Given the description of an element on the screen output the (x, y) to click on. 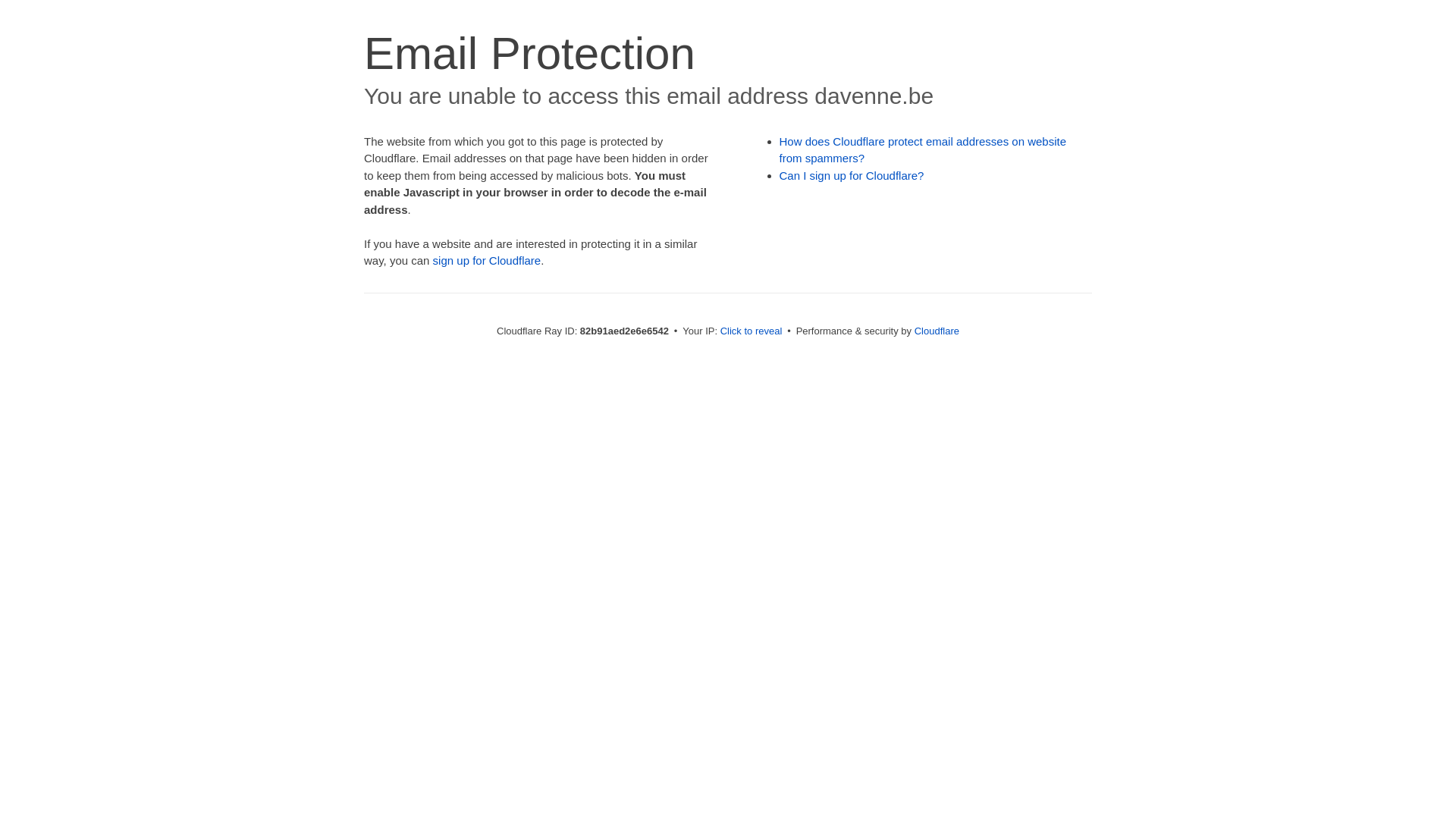
Cloudflare Element type: text (936, 330)
Click to reveal Element type: text (751, 330)
sign up for Cloudflare Element type: text (487, 260)
Can I sign up for Cloudflare? Element type: text (851, 175)
